Given the description of an element on the screen output the (x, y) to click on. 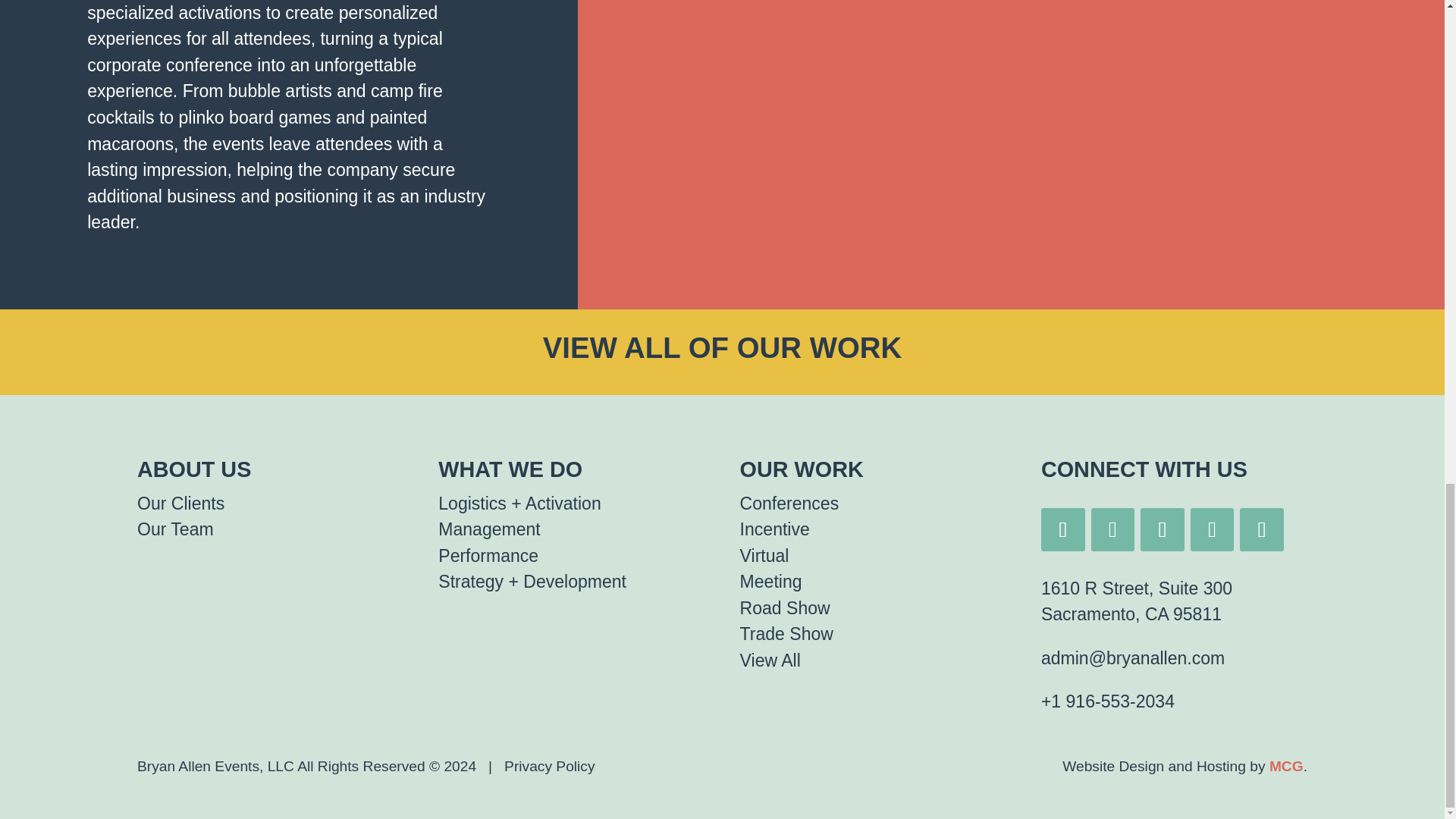
Trade Show (785, 633)
Conferences (789, 503)
Follow on X (1212, 529)
Our Team (175, 528)
Follow on LinkedIn (1062, 529)
MCG (1286, 765)
Follow on Instagram (1112, 529)
Management (489, 528)
Virtual (764, 555)
Our Clients (180, 503)
Follow on Pinterest (1262, 529)
Incentive (774, 528)
View All (769, 660)
Performance (488, 555)
Privacy Policy (548, 765)
